Given the description of an element on the screen output the (x, y) to click on. 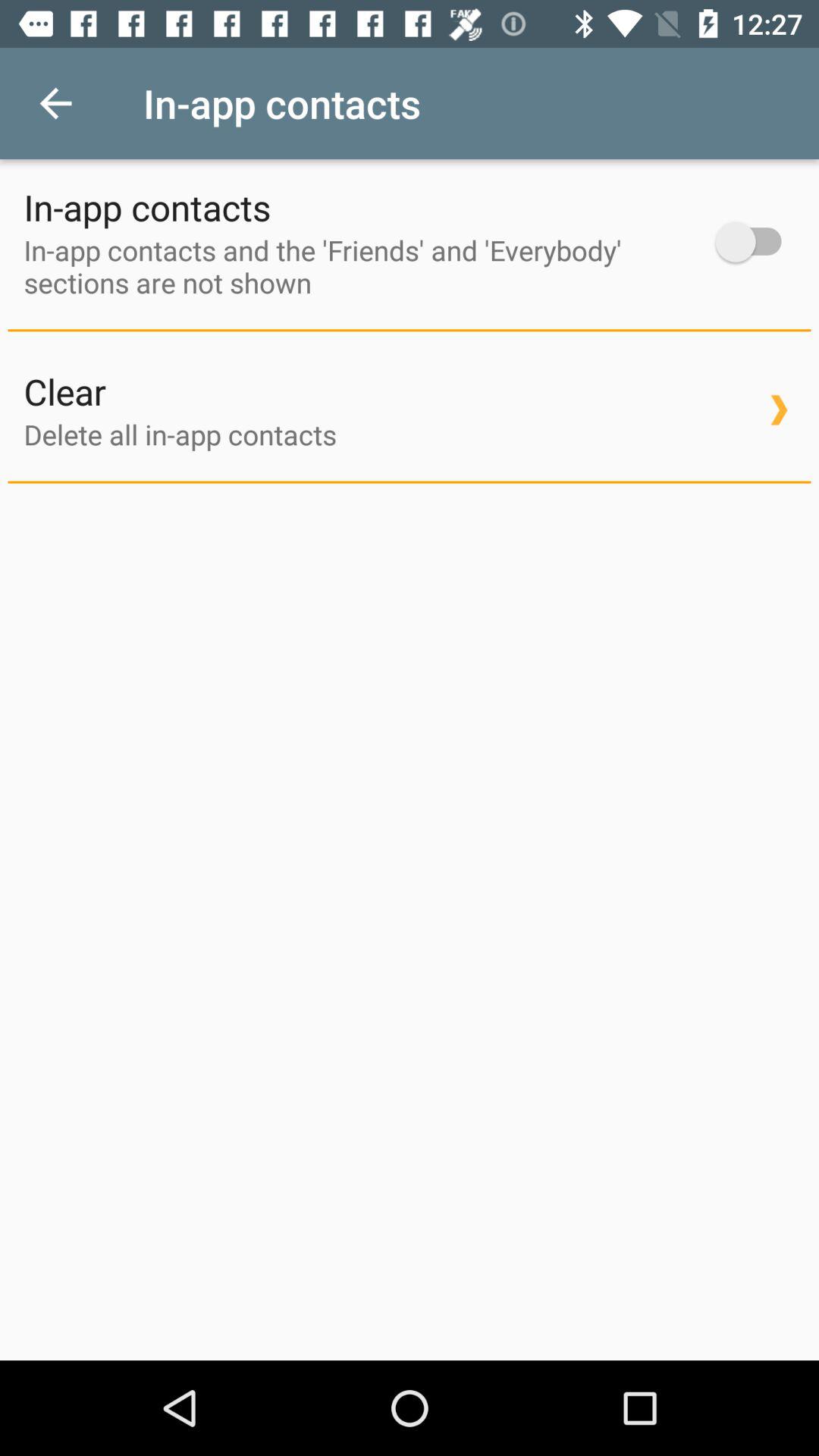
tap the item to the left of in-app contacts (55, 103)
